Given the description of an element on the screen output the (x, y) to click on. 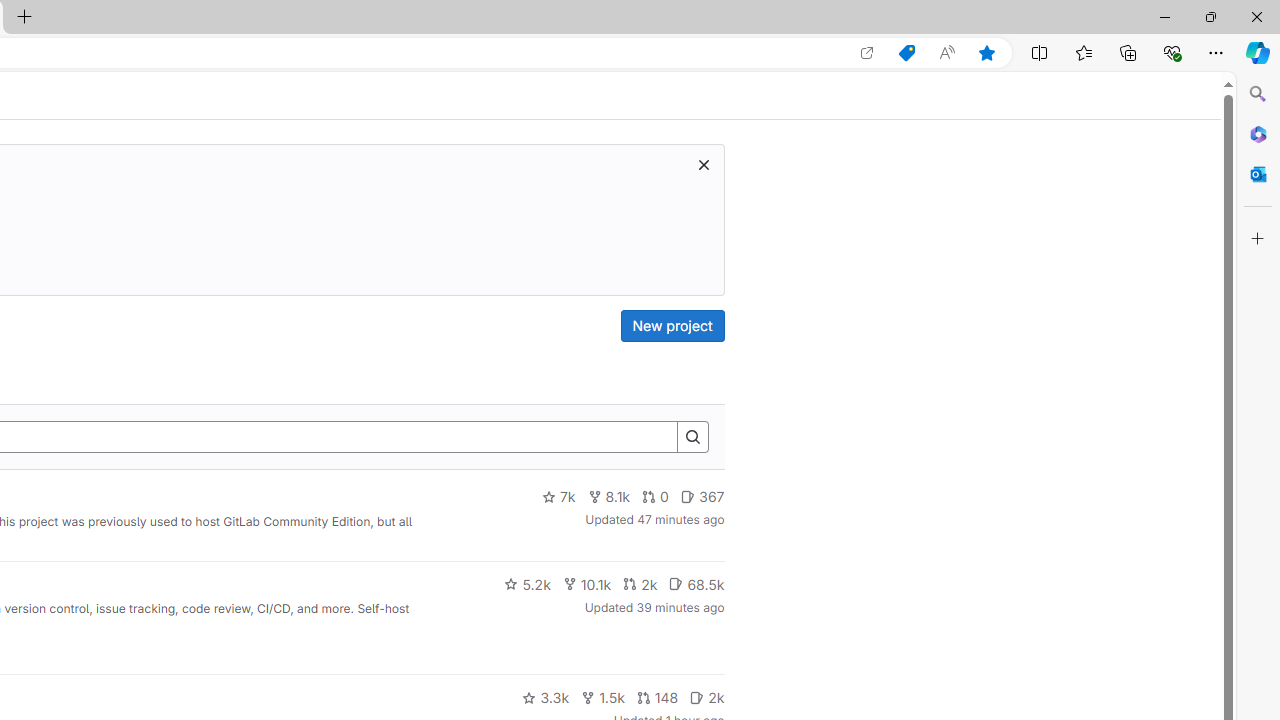
Dismiss trial promotion (703, 164)
2k (706, 697)
5.2k (527, 583)
68.5k (696, 583)
Open in app (867, 53)
Class: s16 gl-icon gl-button-icon  (703, 164)
7k (558, 497)
Class: s14 gl-mr-2 (697, 696)
3.3k (545, 697)
10.1k (586, 583)
